Given the description of an element on the screen output the (x, y) to click on. 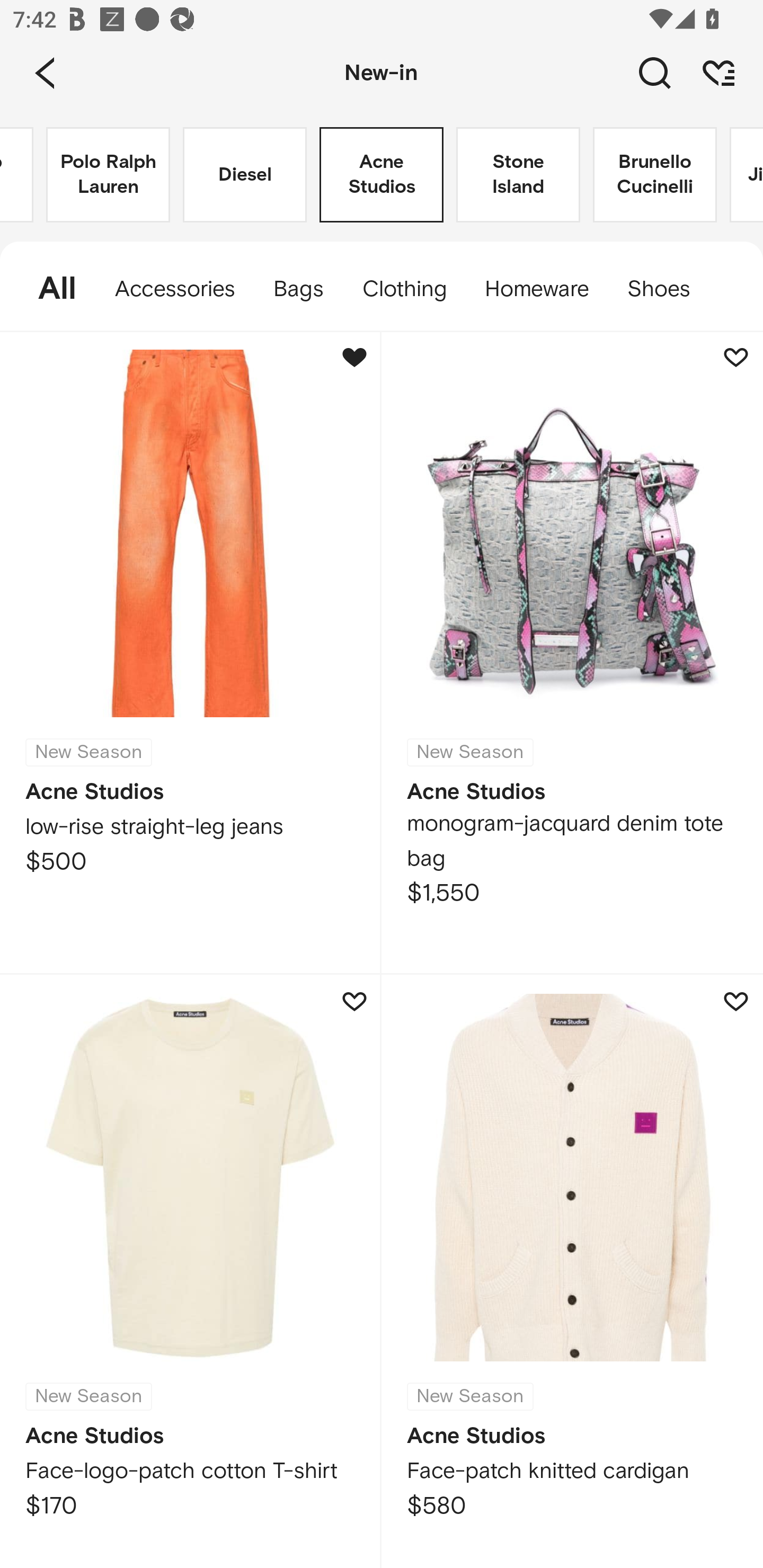
Polo Ralph Lauren (107, 174)
Diesel (244, 174)
Acne Studios (381, 174)
Stone Island (517, 174)
Brunello Cucinelli (654, 174)
All (47, 288)
Accessories (174, 288)
Bags (298, 288)
Clothing (403, 288)
Homeware (536, 288)
Shoes (668, 288)
